Given the description of an element on the screen output the (x, y) to click on. 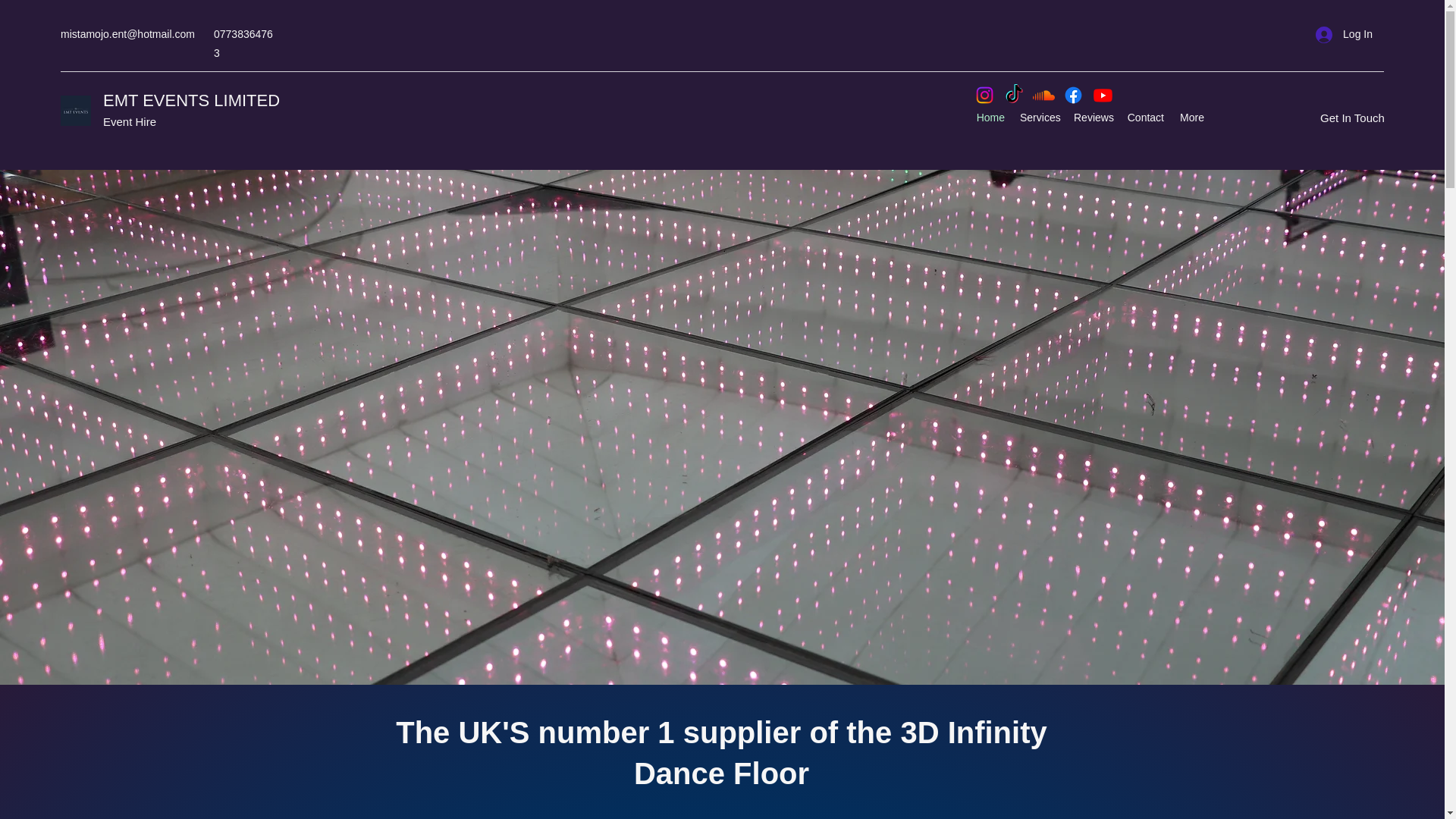
Log In (1343, 34)
EMT EVENTS LIMITED (191, 99)
Home (989, 117)
07738364763 (243, 42)
Contact (1145, 117)
Reviews (1091, 117)
